Given the description of an element on the screen output the (x, y) to click on. 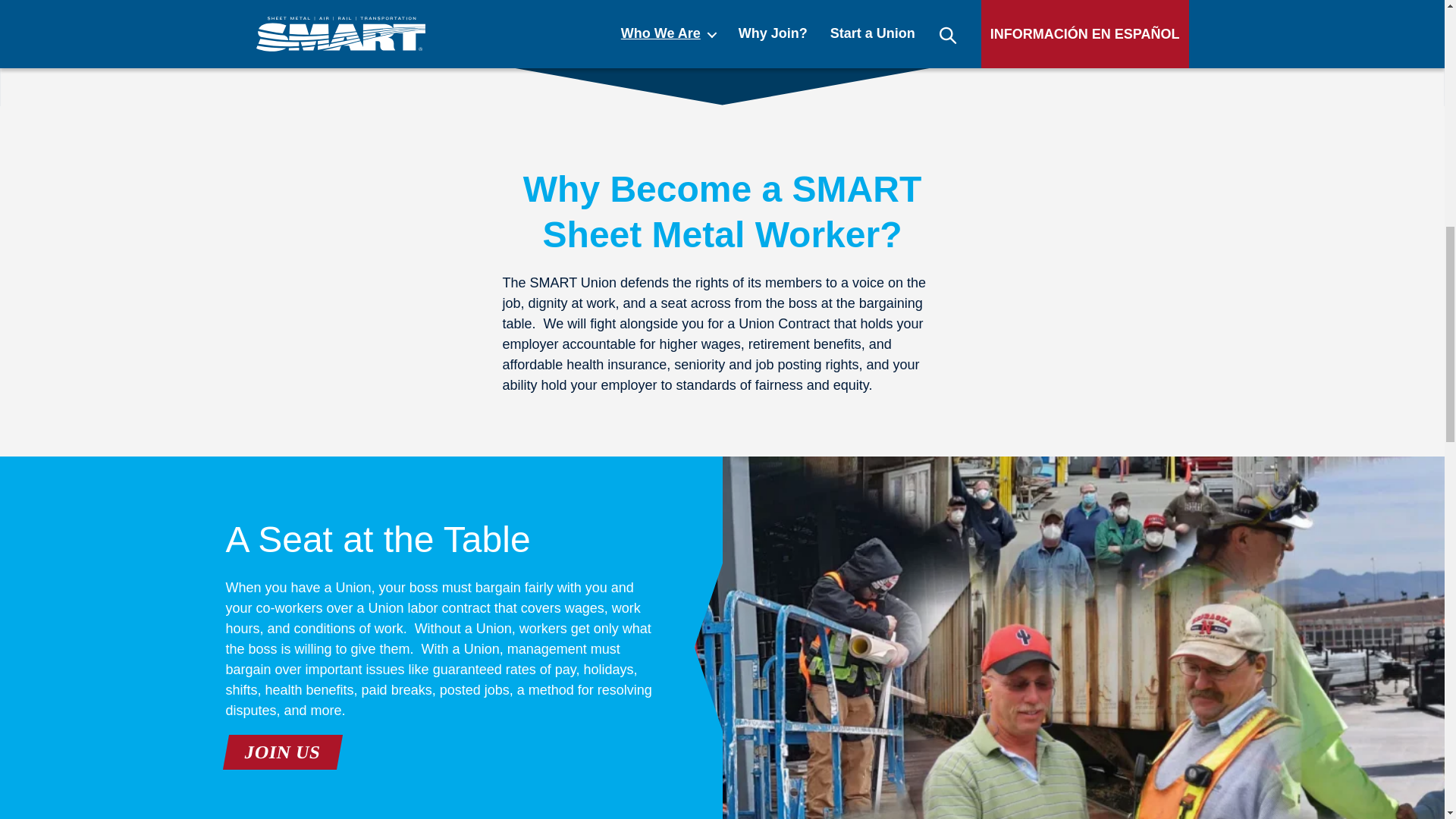
JOIN US (279, 751)
